Given the description of an element on the screen output the (x, y) to click on. 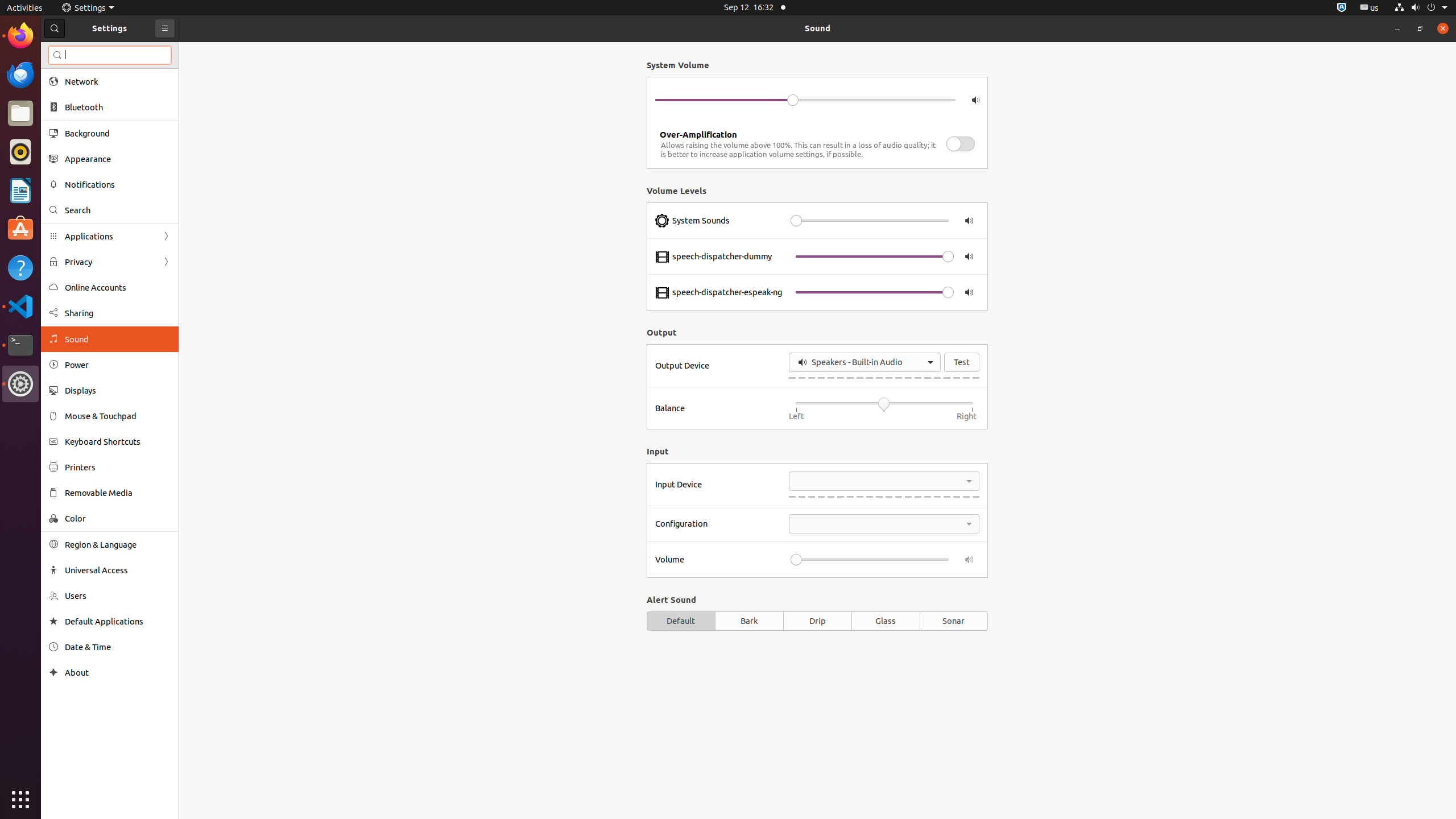
Appearance Element type: label (117, 158)
Settings Element type: menu (87, 7)
Drip Element type: toggle-button (817, 620)
Terminal Element type: push-button (20, 344)
Over-Amplification Element type: label (698, 134)
